Given the description of an element on the screen output the (x, y) to click on. 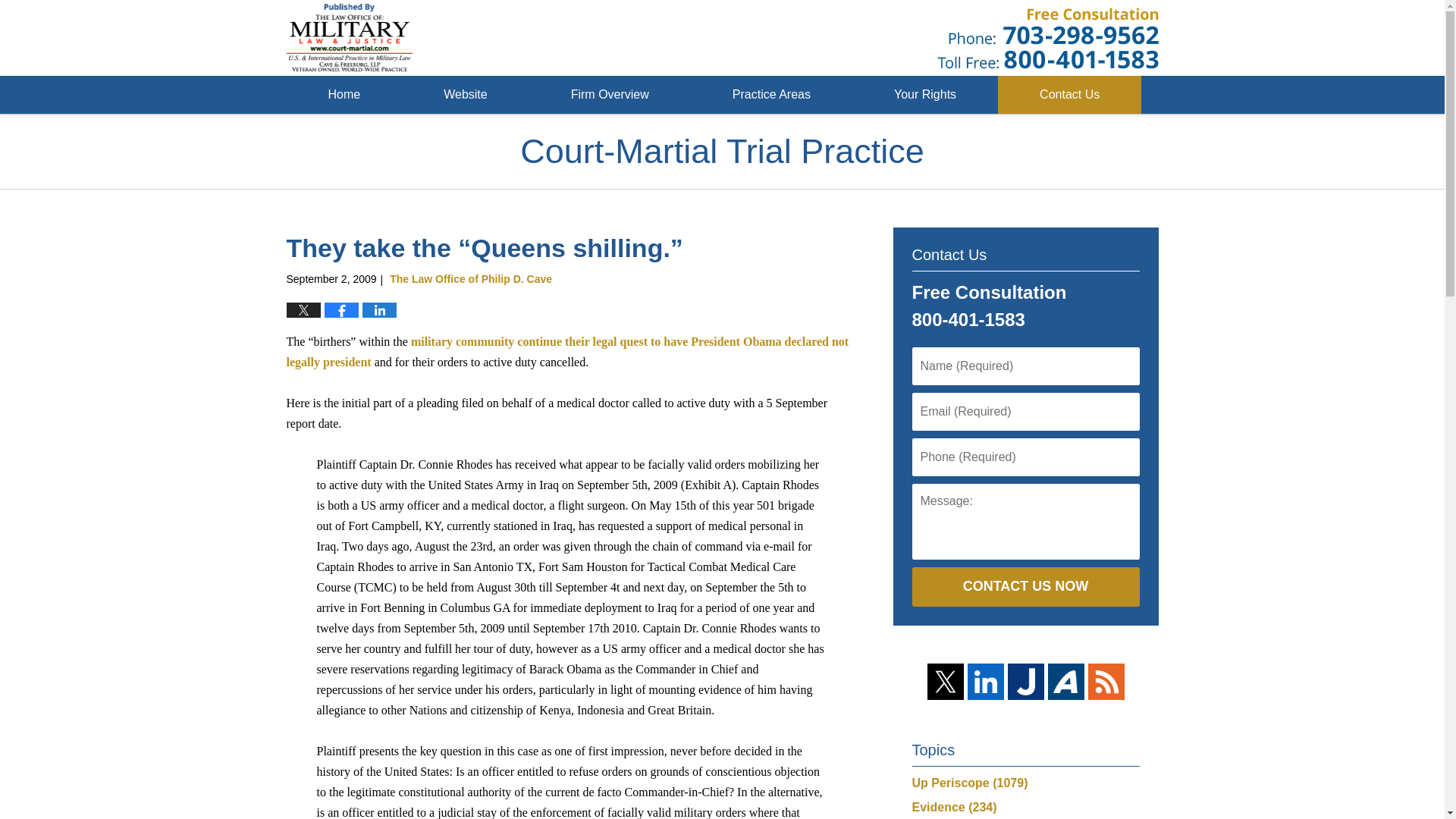
AVVO (1066, 681)
Justia (1025, 681)
Feed (1105, 681)
LinkedIn (986, 681)
Firm Overview (609, 94)
Please enter a valid phone number. (1024, 456)
The Law Office of Philip D. Cave (470, 278)
CONTACT US NOW (1024, 586)
Home (344, 94)
